Given the description of an element on the screen output the (x, y) to click on. 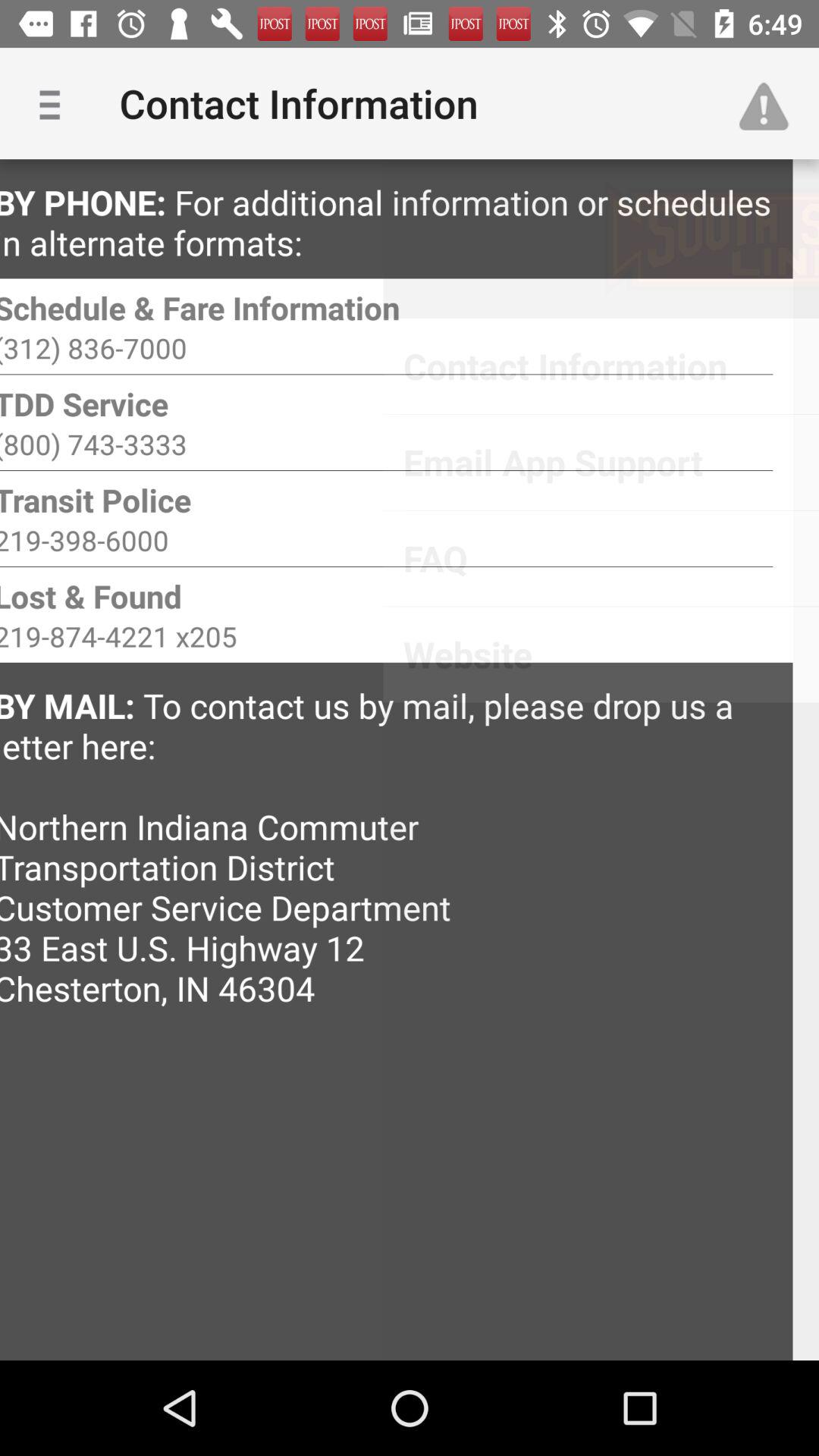
launch item at the top right corner (771, 103)
